Given the description of an element on the screen output the (x, y) to click on. 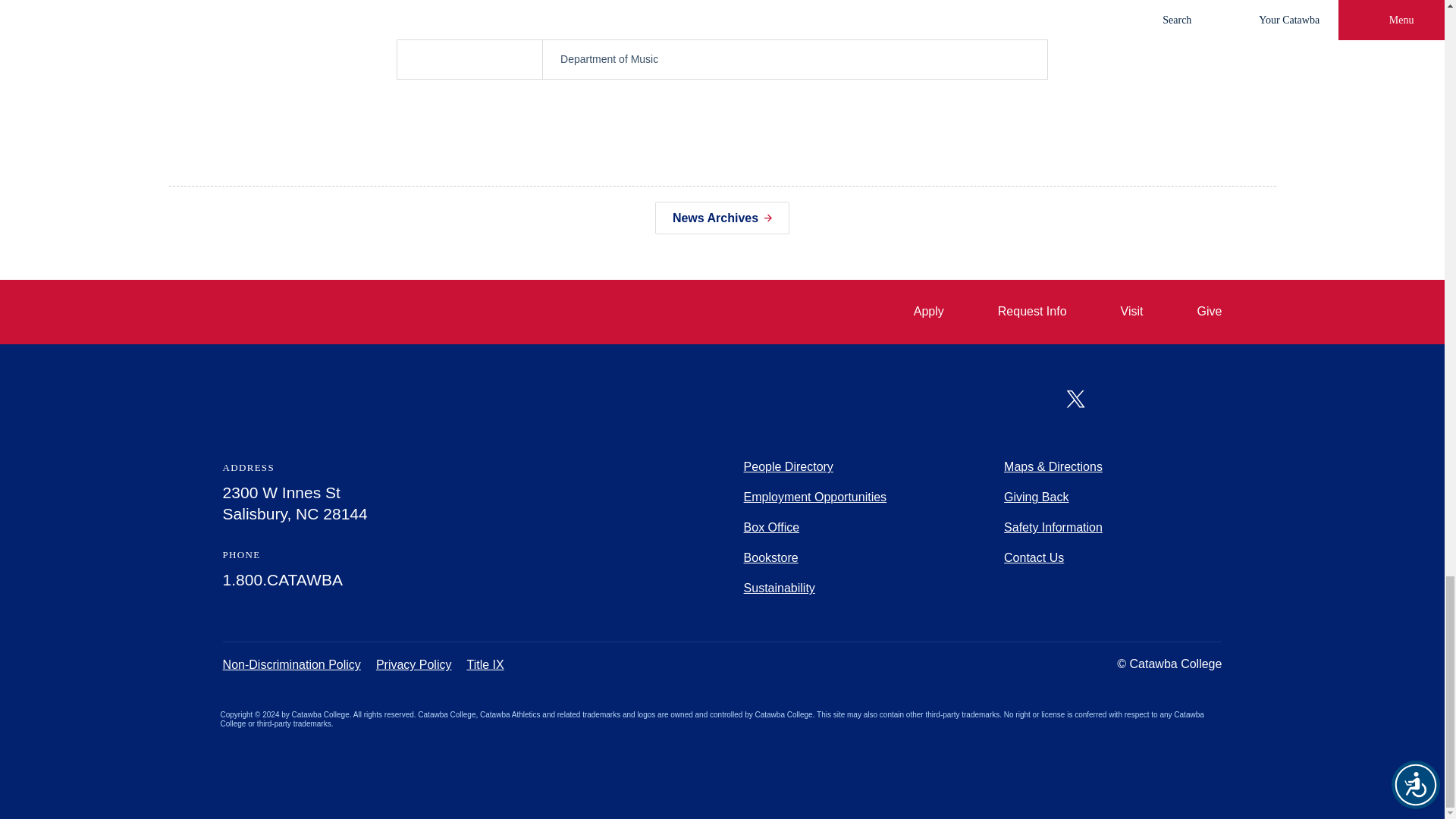
Give (1196, 312)
News Archives (722, 217)
Request Info (1019, 311)
Apply (915, 311)
Visit (1119, 311)
Youtube (1124, 398)
X (1075, 397)
Facebook (1027, 398)
